Given the description of an element on the screen output the (x, y) to click on. 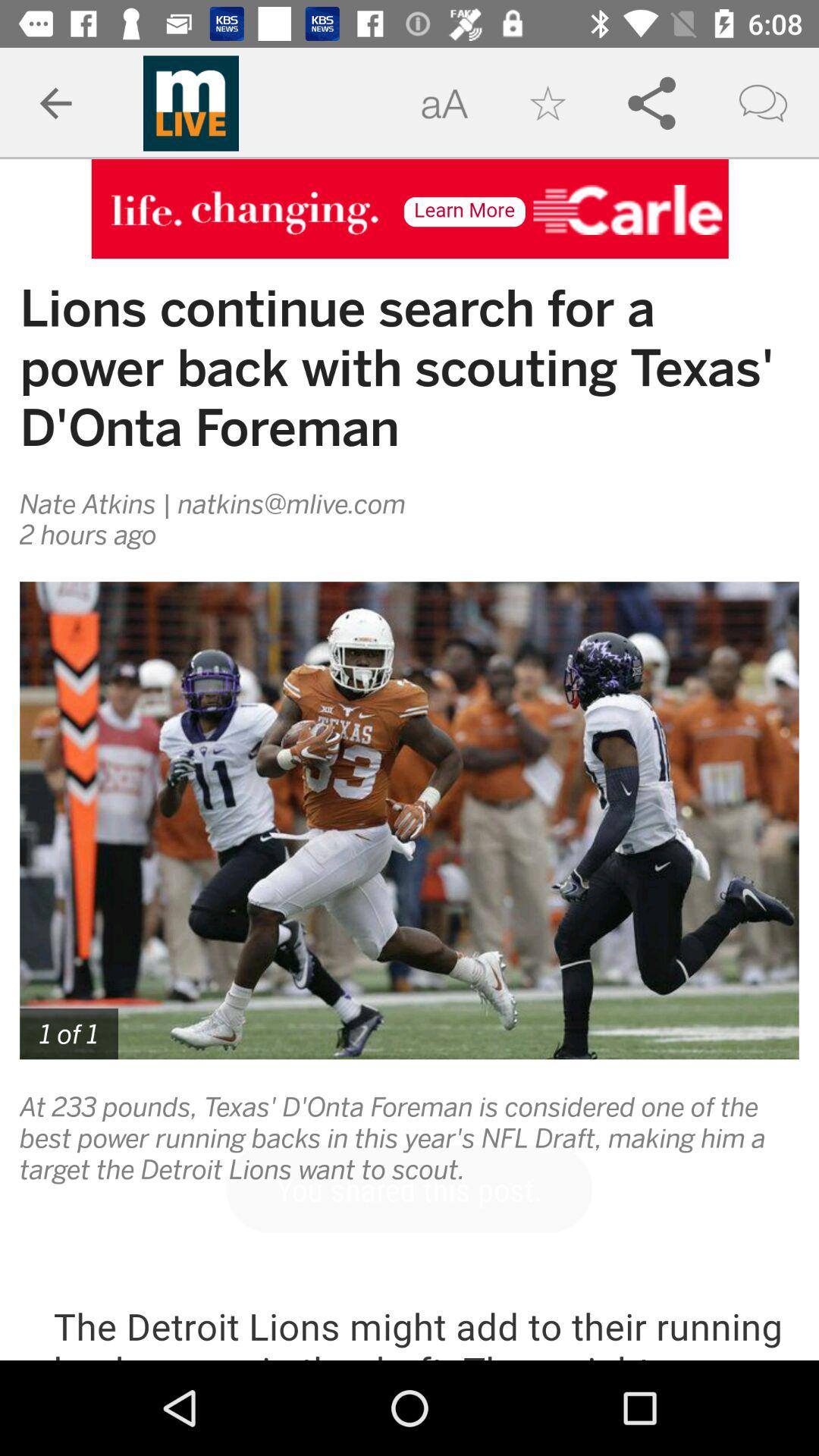
open advertisement site (409, 208)
